Given the description of an element on the screen output the (x, y) to click on. 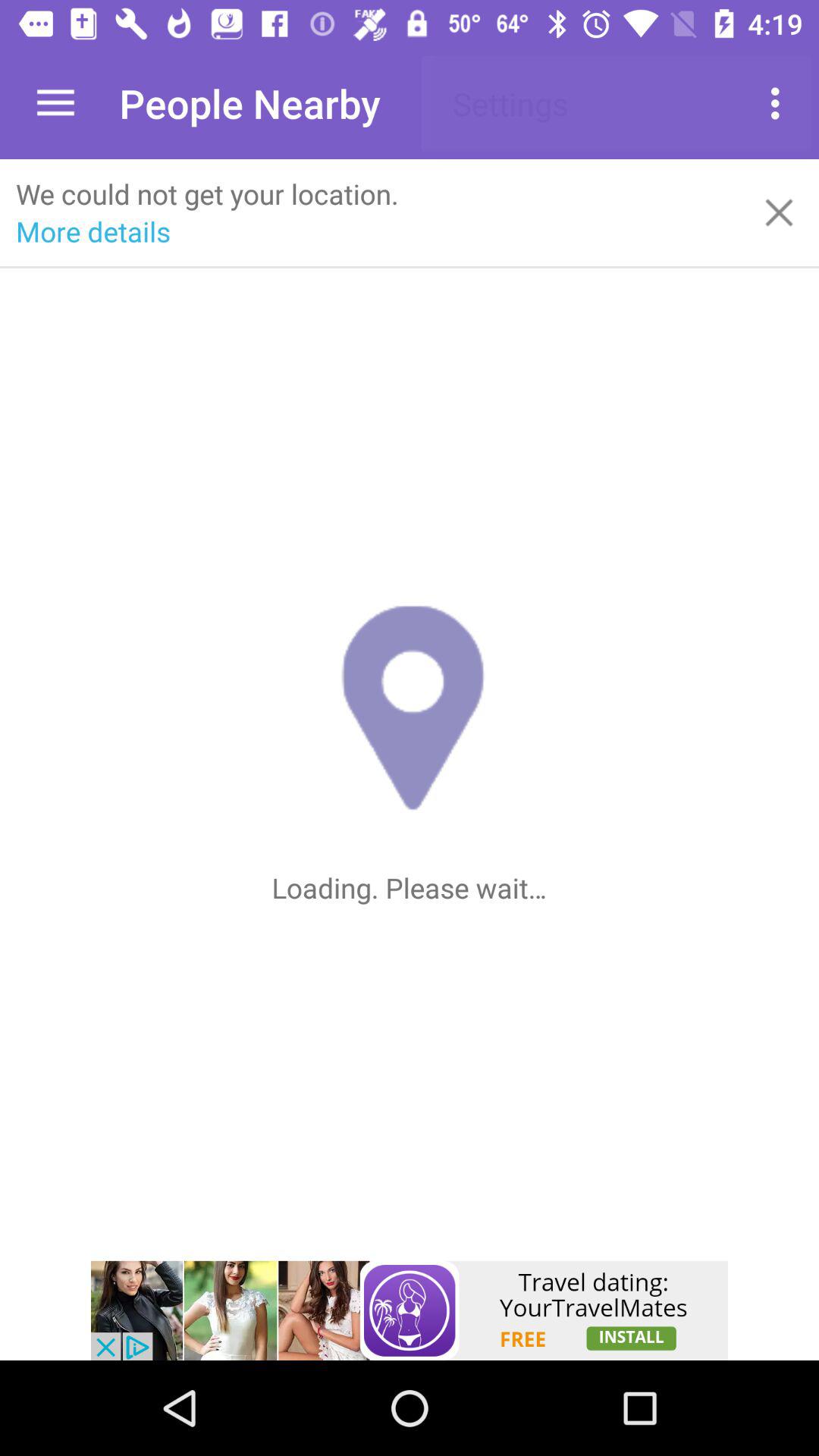
web advertisement (409, 1310)
